Given the description of an element on the screen output the (x, y) to click on. 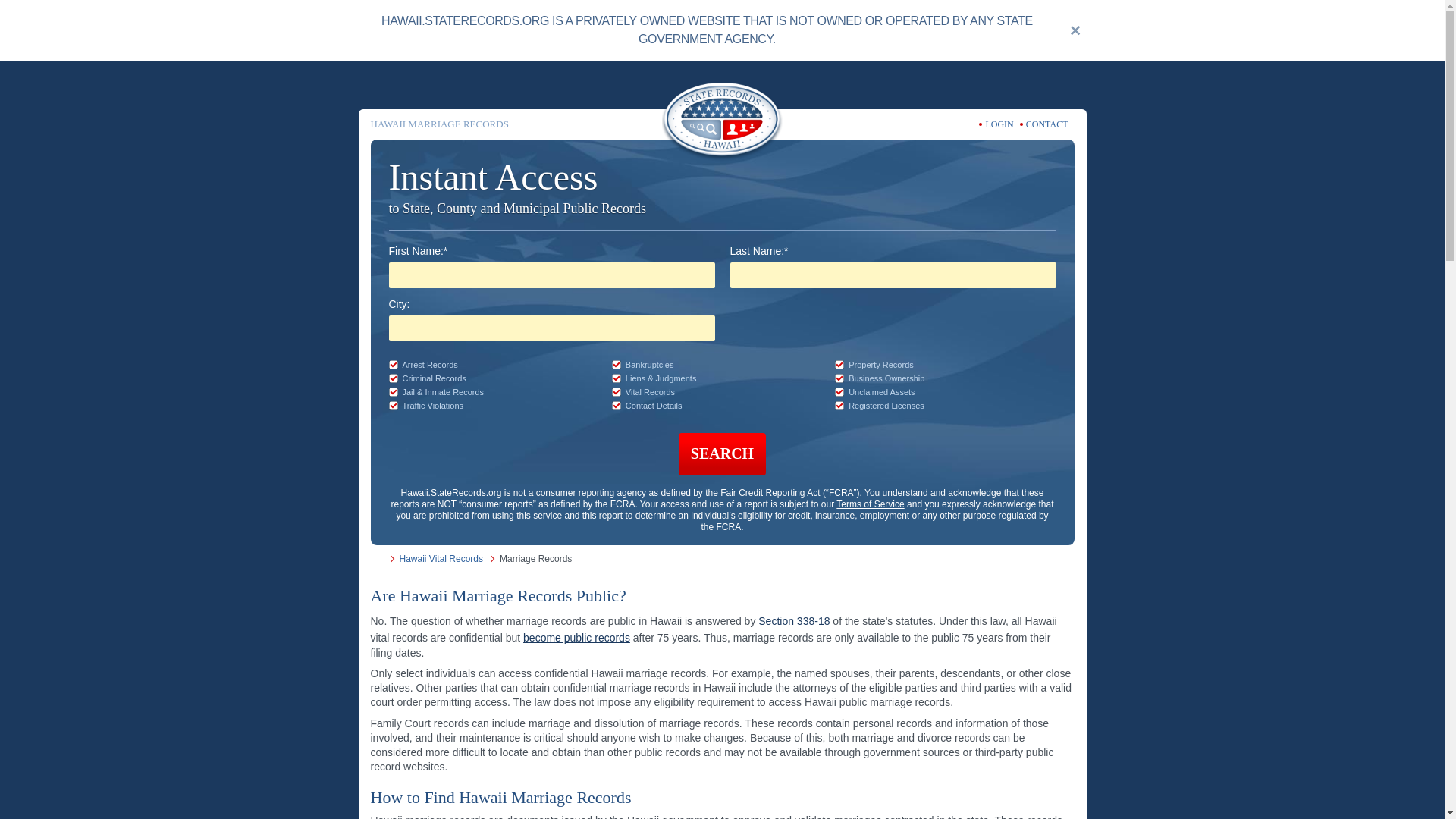
LOGIN (999, 124)
CONTACT (1047, 124)
Terms of Service (869, 503)
become public records (576, 636)
Hawaii Vital Records (440, 558)
Section 338-18 (793, 620)
SEARCH (721, 454)
